Given the description of an element on the screen output the (x, y) to click on. 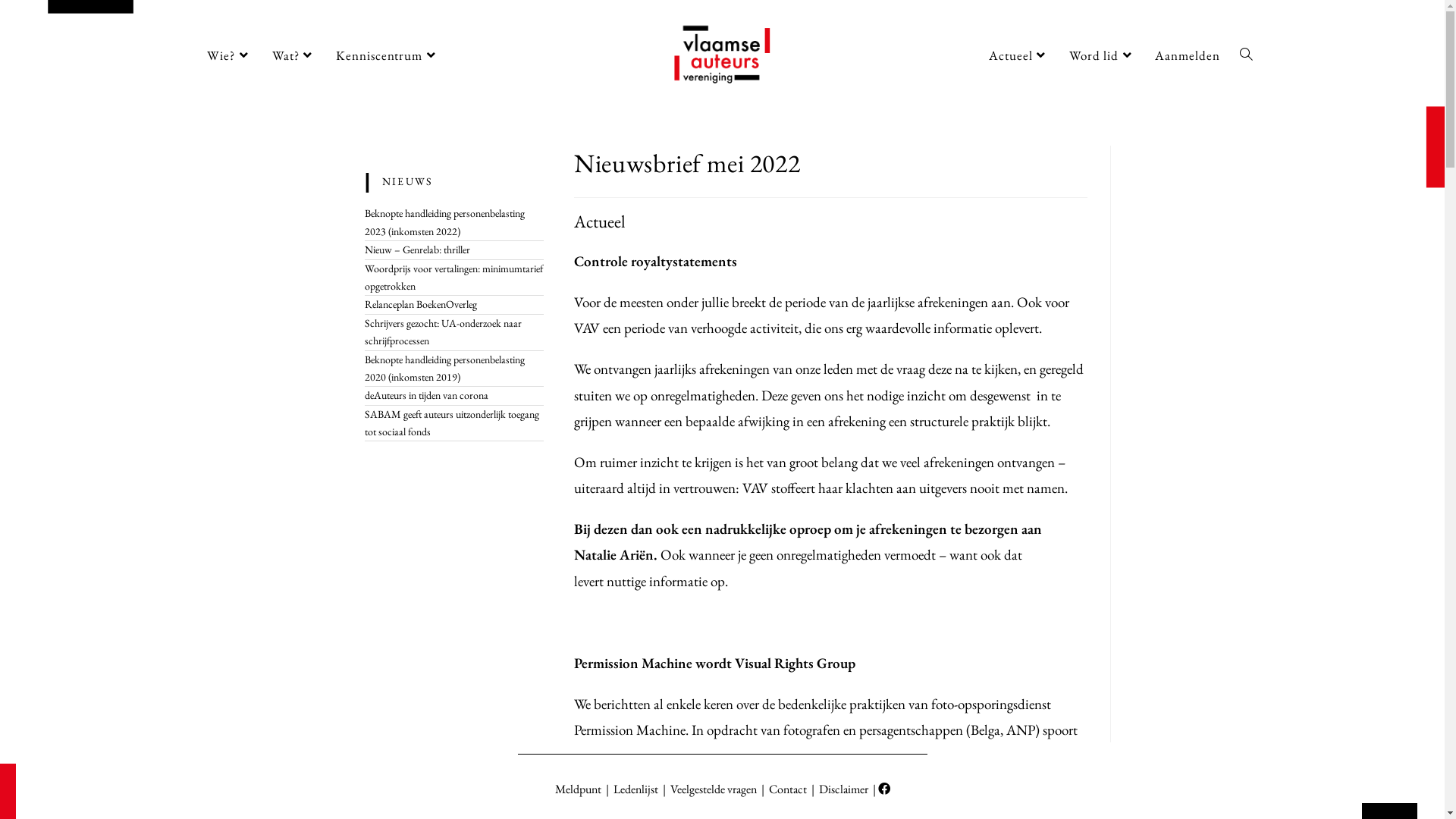
Relanceplan BoekenOverleg Element type: text (420, 303)
Ledenlijst Element type: text (634, 789)
SABAM geeft auteurs uitzonderlijk toegang tot sociaal fonds Element type: text (451, 422)
deAuteurs in tijden van corona Element type: text (425, 394)
Wat? Element type: text (294, 54)
Disclaimer Element type: text (843, 789)
Schrijvers gezocht: UA-onderzoek naar schrijfprocessen Element type: text (442, 331)
 Contact Element type: text (785, 789)
Veelgestelde vragen Element type: text (713, 789)
Actueel Element type: text (1019, 54)
Word lid Element type: text (1102, 54)
Beknopte handleiding personenbelasting 2023 (inkomsten 2022) Element type: text (444, 221)
We berichtten al enkele keren Element type: text (653, 703)
Wie? Element type: text (229, 54)
Beknopte handleiding personenbelasting 2020 (inkomsten 2019) Element type: text (444, 367)
Meldpunt Element type: text (578, 789)
Woordprijs voor vertalingen: minimumtarief opgetrokken Element type: text (453, 276)
Aanmelden Element type: text (1187, 54)
Kenniscentrum Element type: text (387, 54)
